Given the description of an element on the screen output the (x, y) to click on. 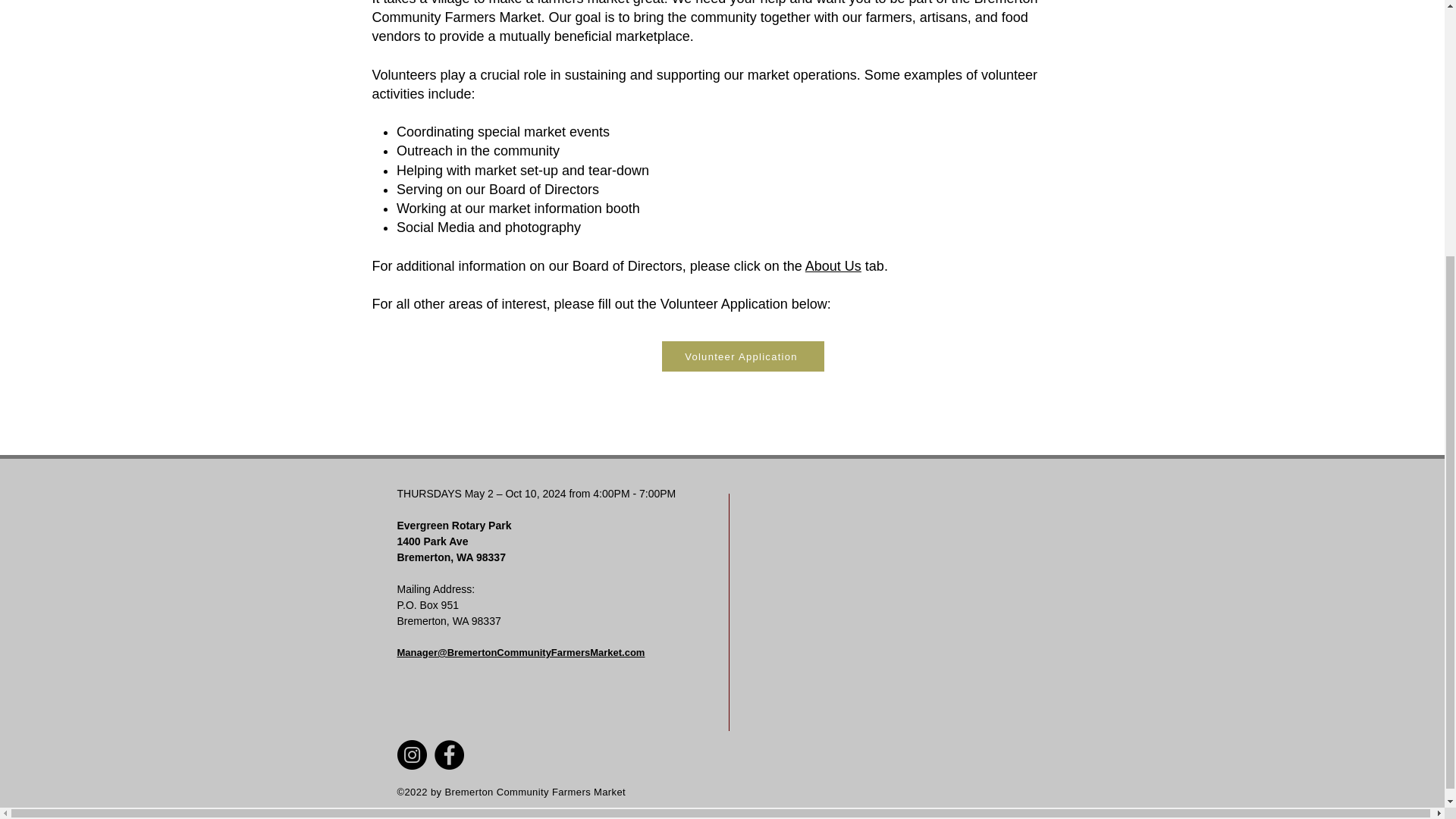
About Us (833, 265)
Volunteer Application (742, 356)
